Given the description of an element on the screen output the (x, y) to click on. 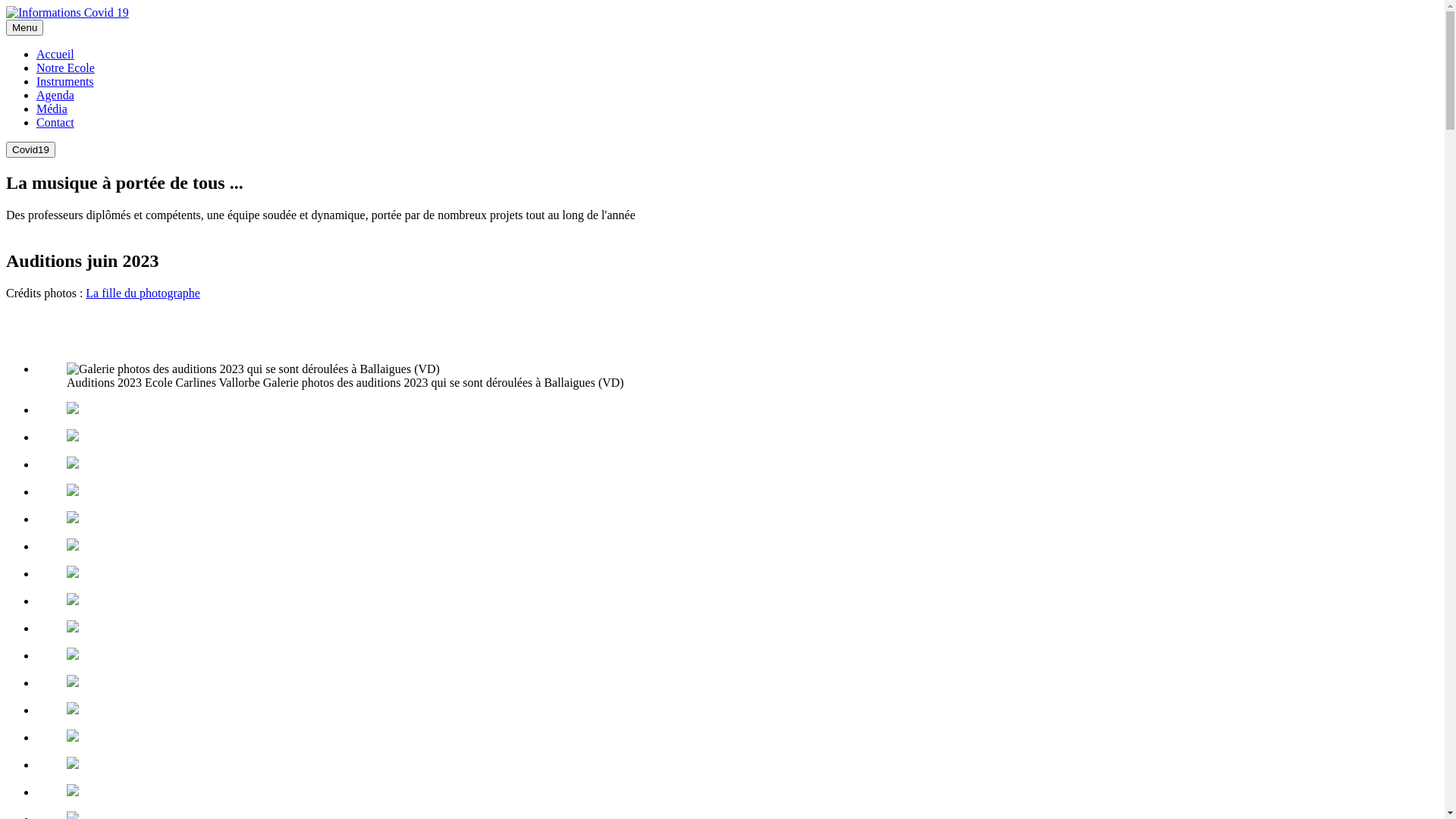
La fille du photographe Element type: text (142, 292)
Agenda Element type: text (55, 94)
Menu Element type: text (24, 27)
Instruments Element type: text (65, 81)
Contact Element type: text (55, 122)
Accueil Element type: text (55, 53)
Auditions 2023 Ecole Carlines Vallorbe Element type: hover (252, 369)
Covid19 Element type: text (30, 149)
Notre Ecole Element type: text (65, 67)
